Given the description of an element on the screen output the (x, y) to click on. 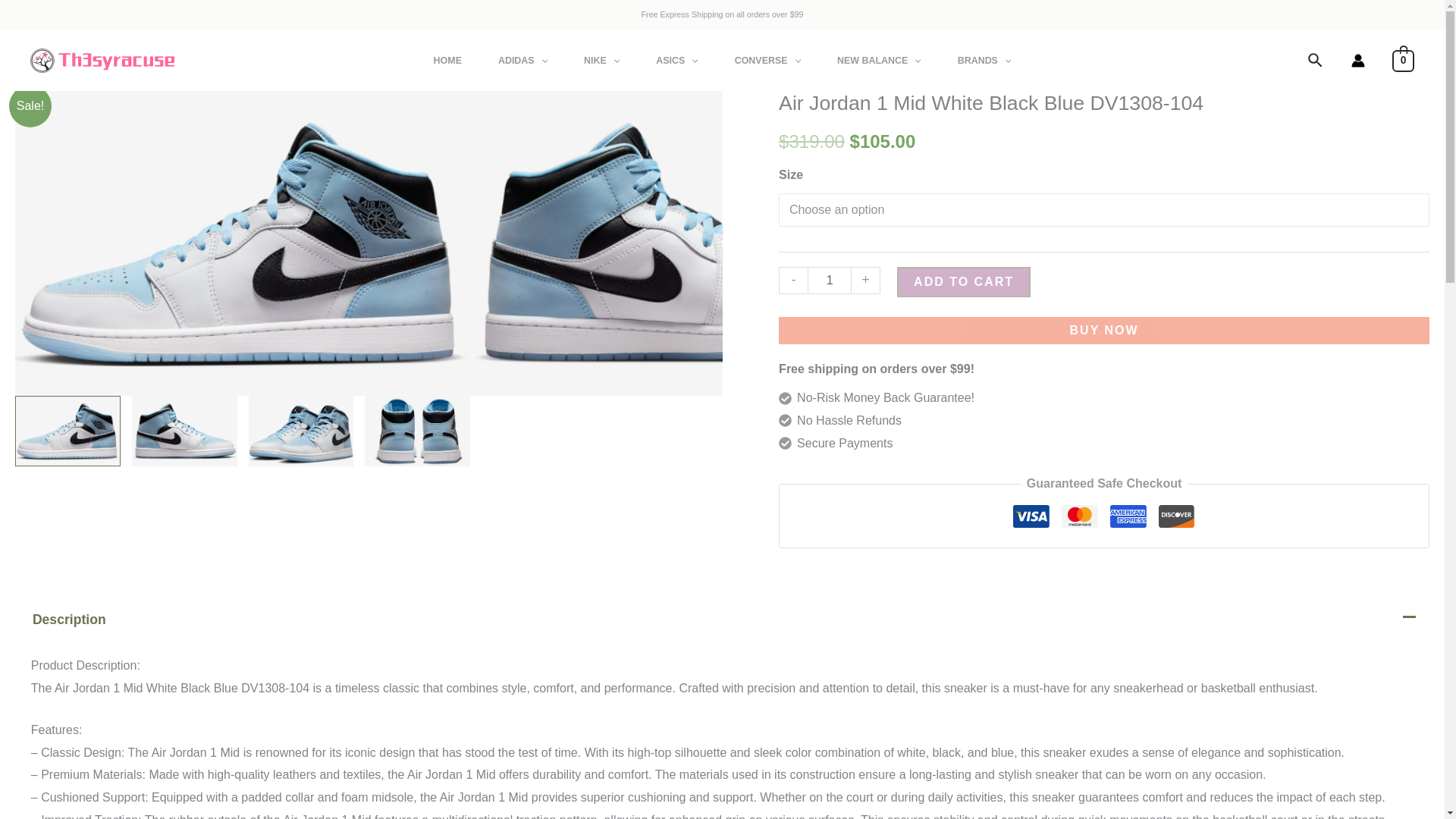
1 (829, 279)
ADIDAS (523, 60)
HOME (447, 60)
